Given the description of an element on the screen output the (x, y) to click on. 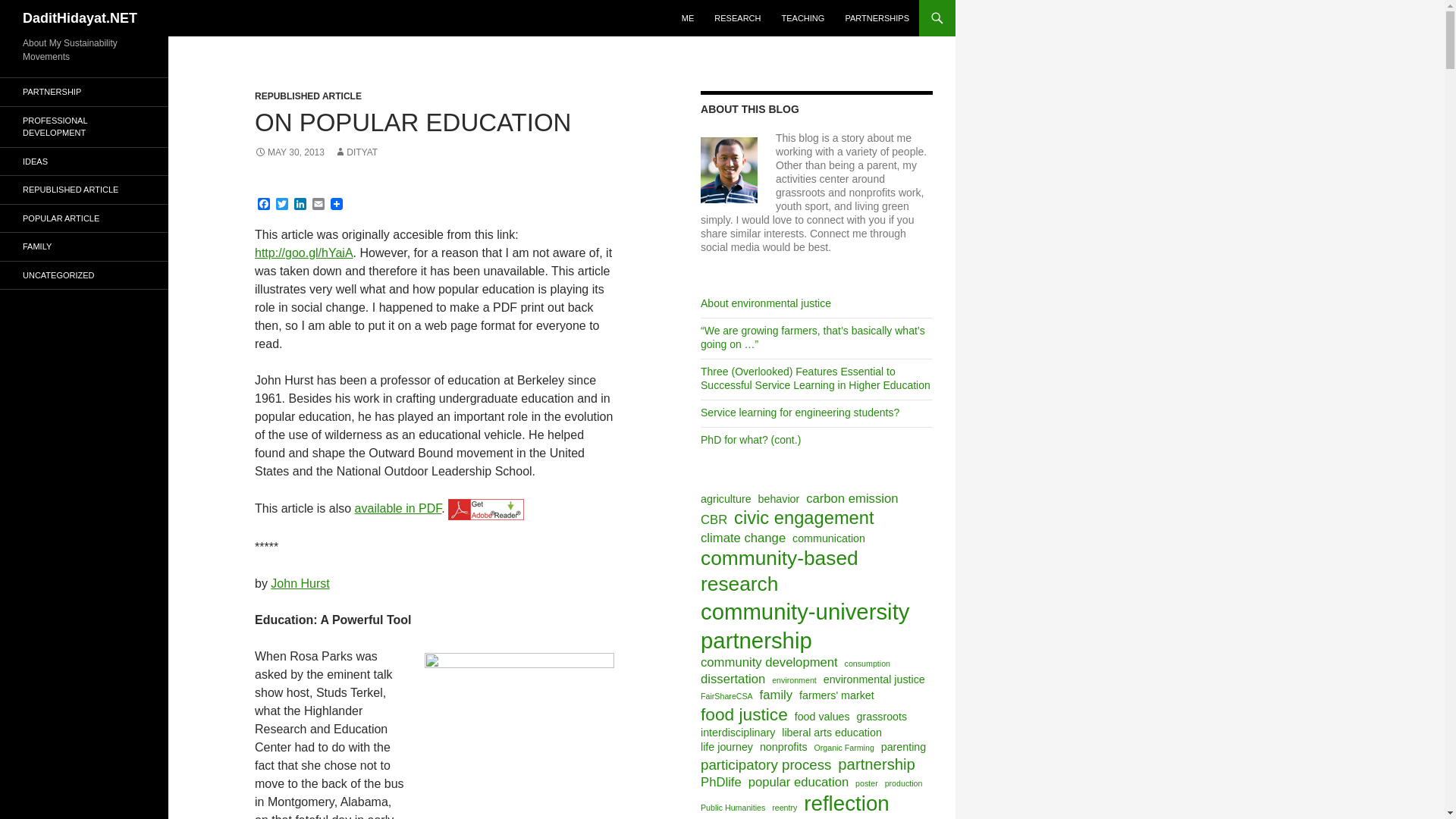
LinkedIn (299, 205)
behavior (778, 499)
About environmental justice (765, 303)
community-university partnership (814, 625)
carbon emission (852, 498)
civic engagement (803, 517)
Email (317, 205)
Facebook (263, 205)
communication (828, 538)
Facebook (263, 205)
RESEARCH (737, 18)
climate change (743, 537)
DITYAT (355, 152)
John Hurst (299, 583)
Email (317, 205)
